Given the description of an element on the screen output the (x, y) to click on. 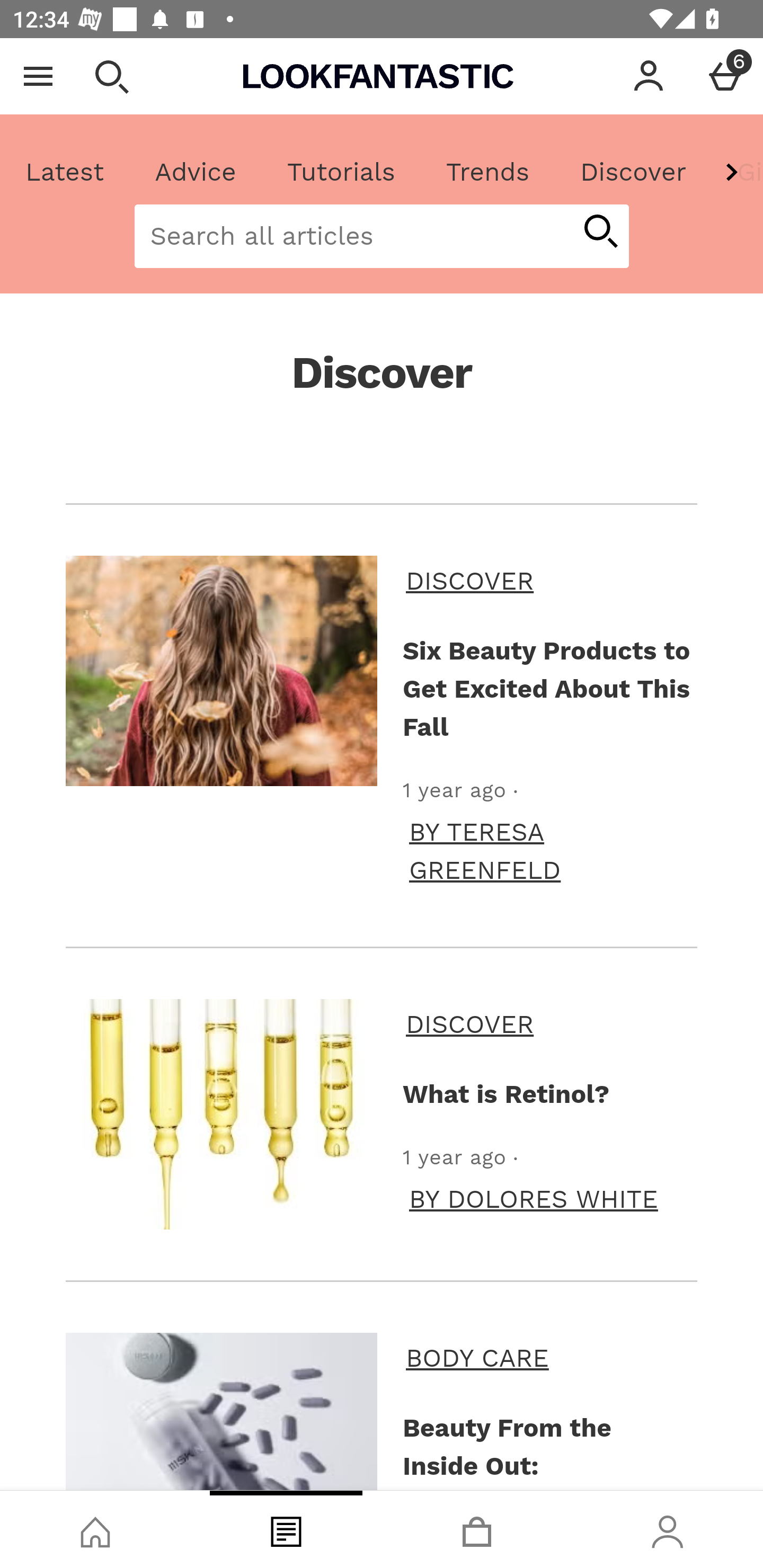
Open Menu (38, 75)
Open search (111, 75)
Account (648, 75)
Basket Menu (724, 75)
Lookfantastic USA Home page (378, 76)
Latest (65, 172)
Advice (195, 172)
Tutorials (340, 172)
Trends (486, 172)
Discover (632, 172)
Gift Guide (736, 172)
start article search (599, 232)
Six Beauty Products to Get Excited About This Fall (221, 671)
DISCOVER (548, 580)
Six Beauty Products to Get Excited About This Fall (546, 688)
BY TERESA GREENFELD (550, 850)
What is Retinol? (221, 1113)
DISCOVER (548, 1023)
What is Retinol? (546, 1093)
BY DOLORES WHITE (533, 1198)
BODY CARE (548, 1357)
Shop, tab, 1 of 4 (95, 1529)
Blog, tab, 2 of 4 (285, 1529)
Basket, tab, 3 of 4 (476, 1529)
Account, tab, 4 of 4 (667, 1529)
